Given the description of an element on the screen output the (x, y) to click on. 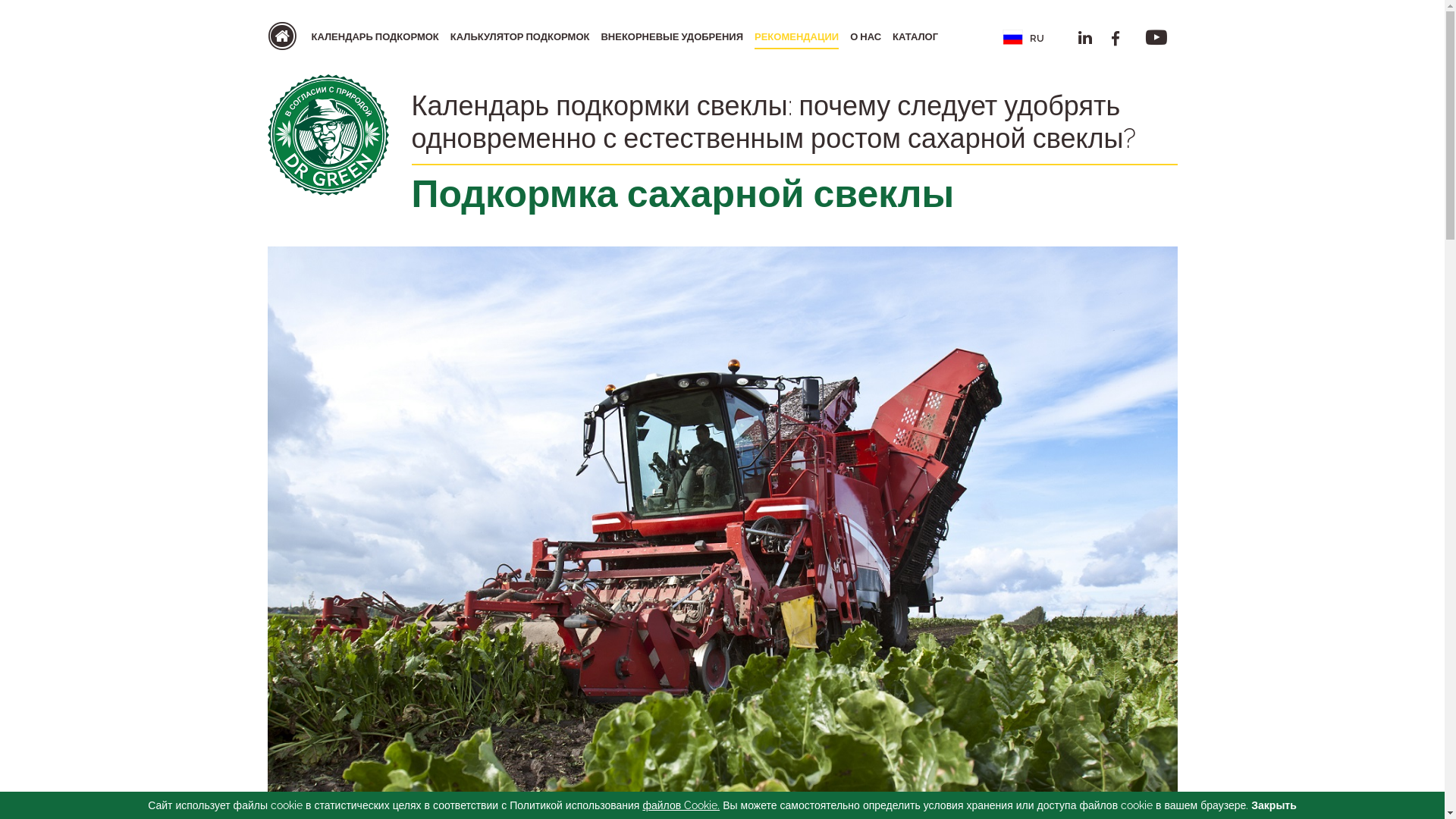
RU Element type: text (1017, 36)
